Given the description of an element on the screen output the (x, y) to click on. 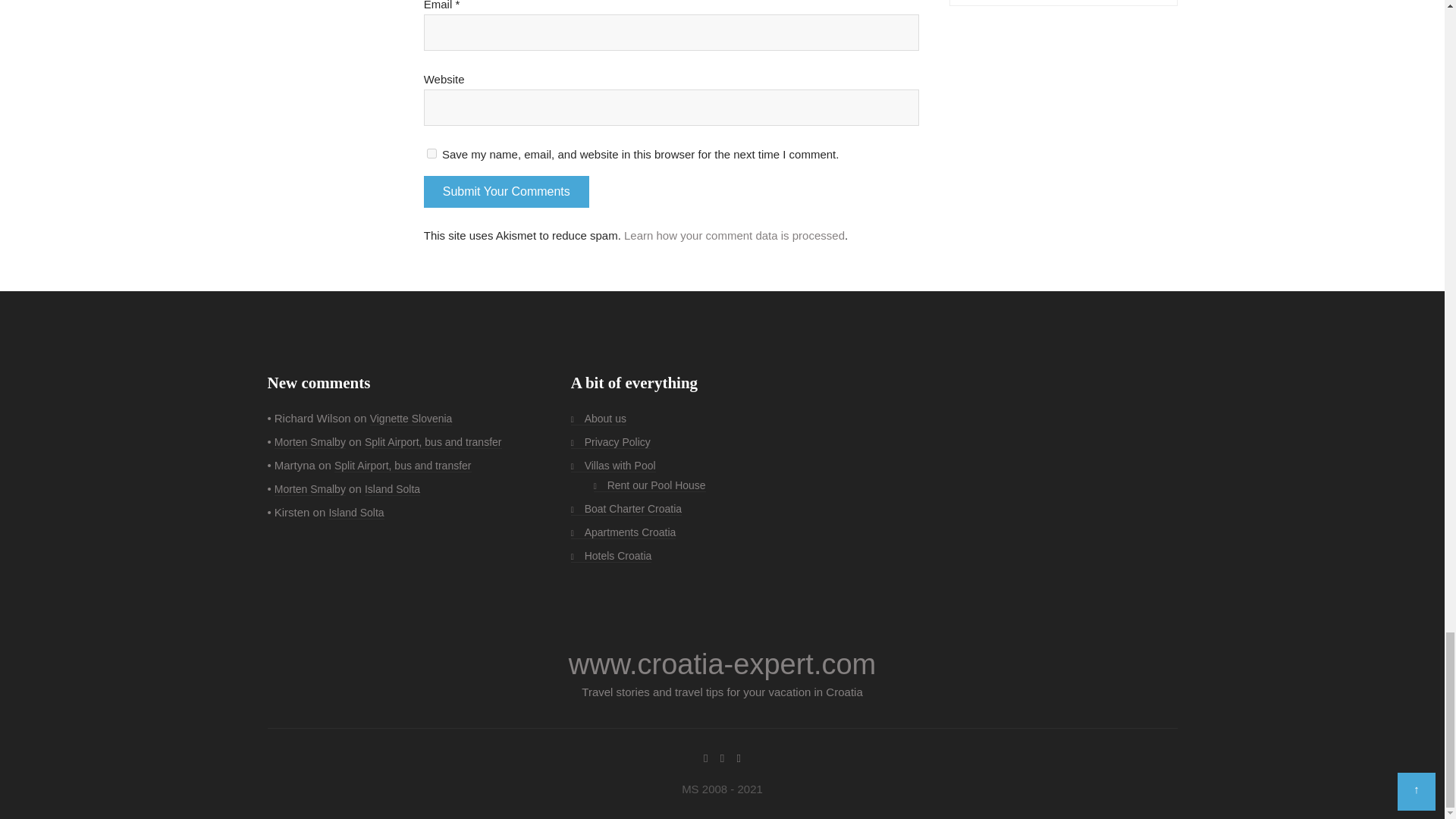
yes (431, 153)
Submit Your Comments (506, 192)
